Given the description of an element on the screen output the (x, y) to click on. 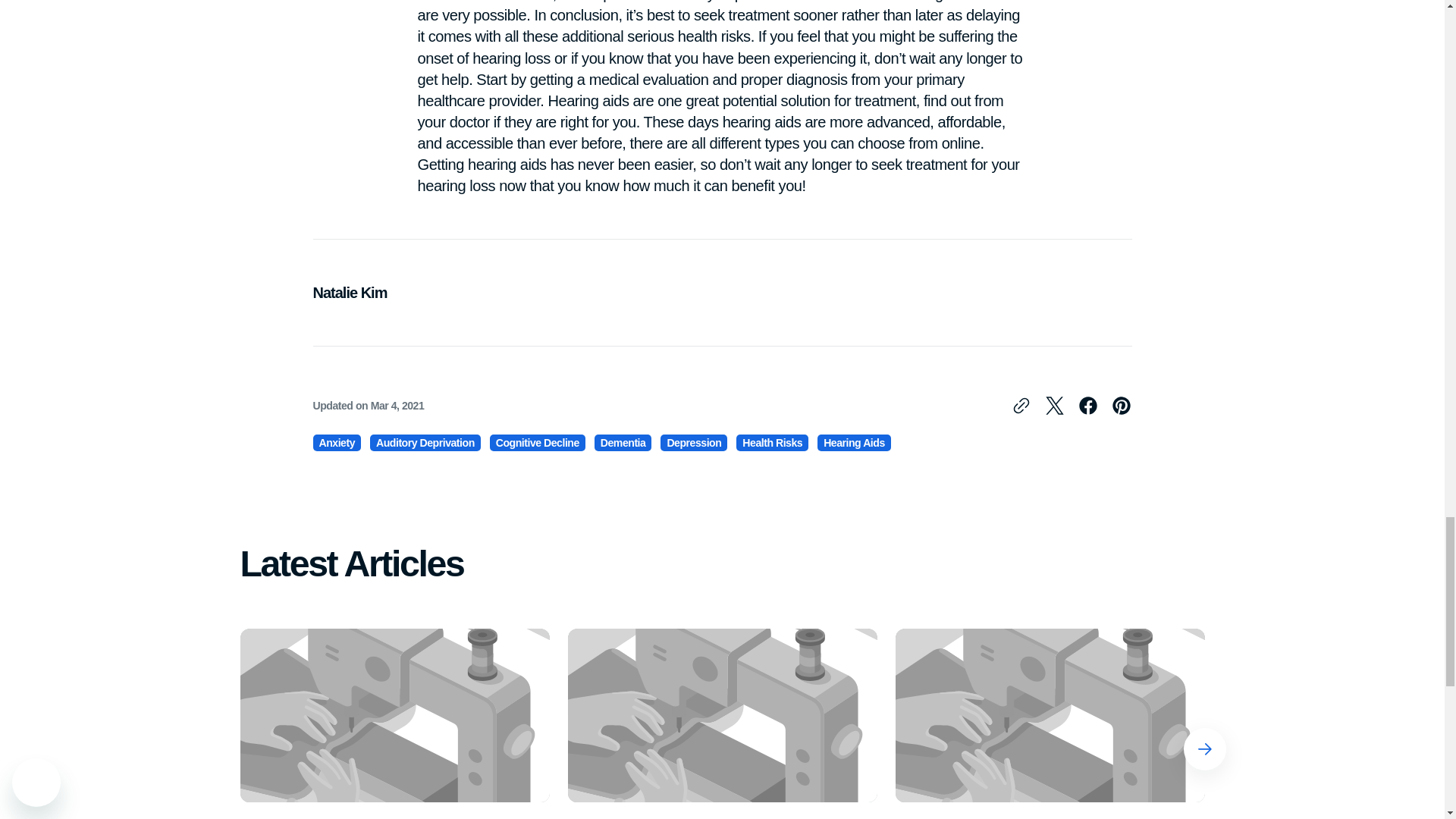
anxiety (336, 442)
